Given the description of an element on the screen output the (x, y) to click on. 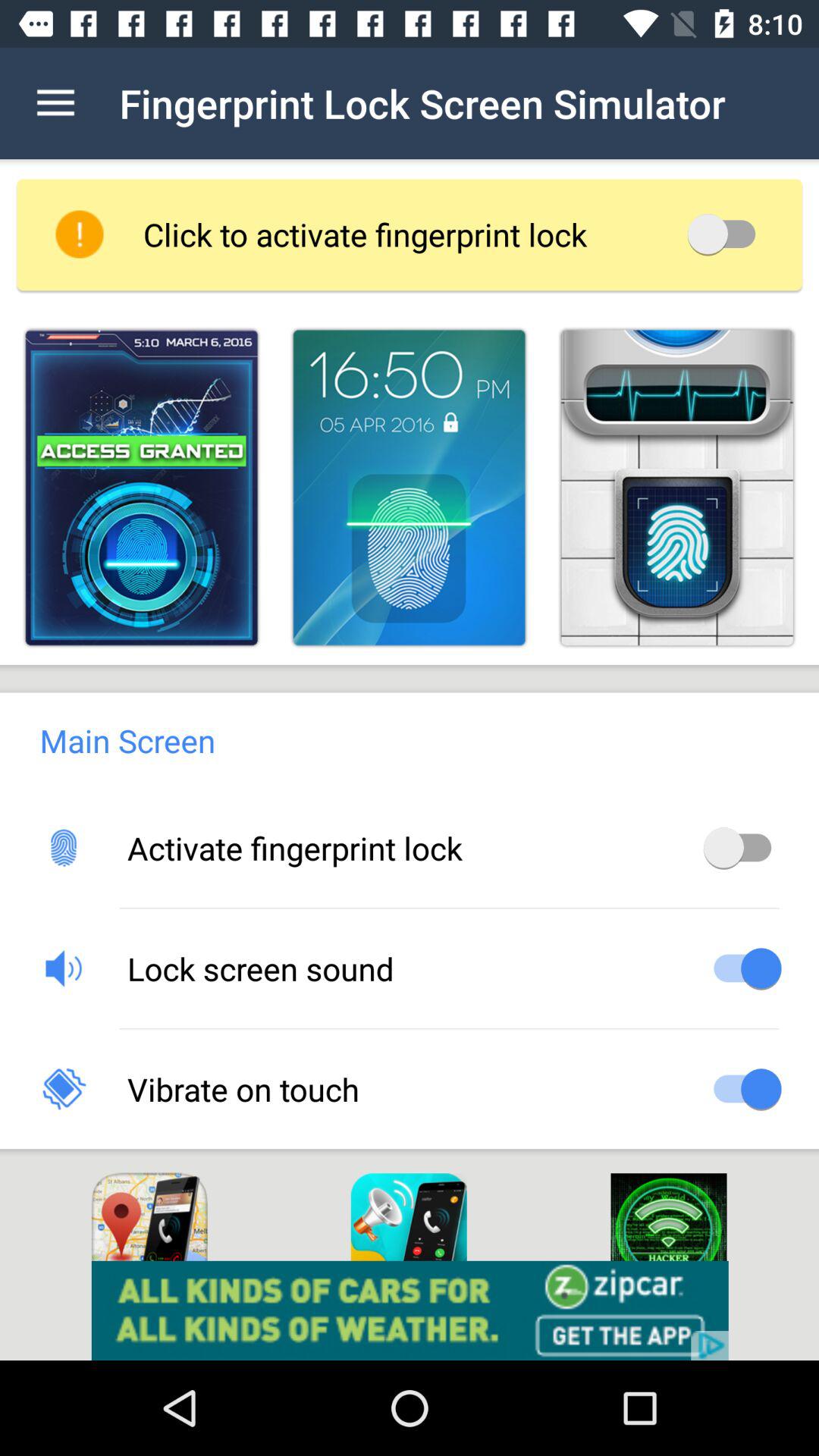
off (726, 233)
